Given the description of an element on the screen output the (x, y) to click on. 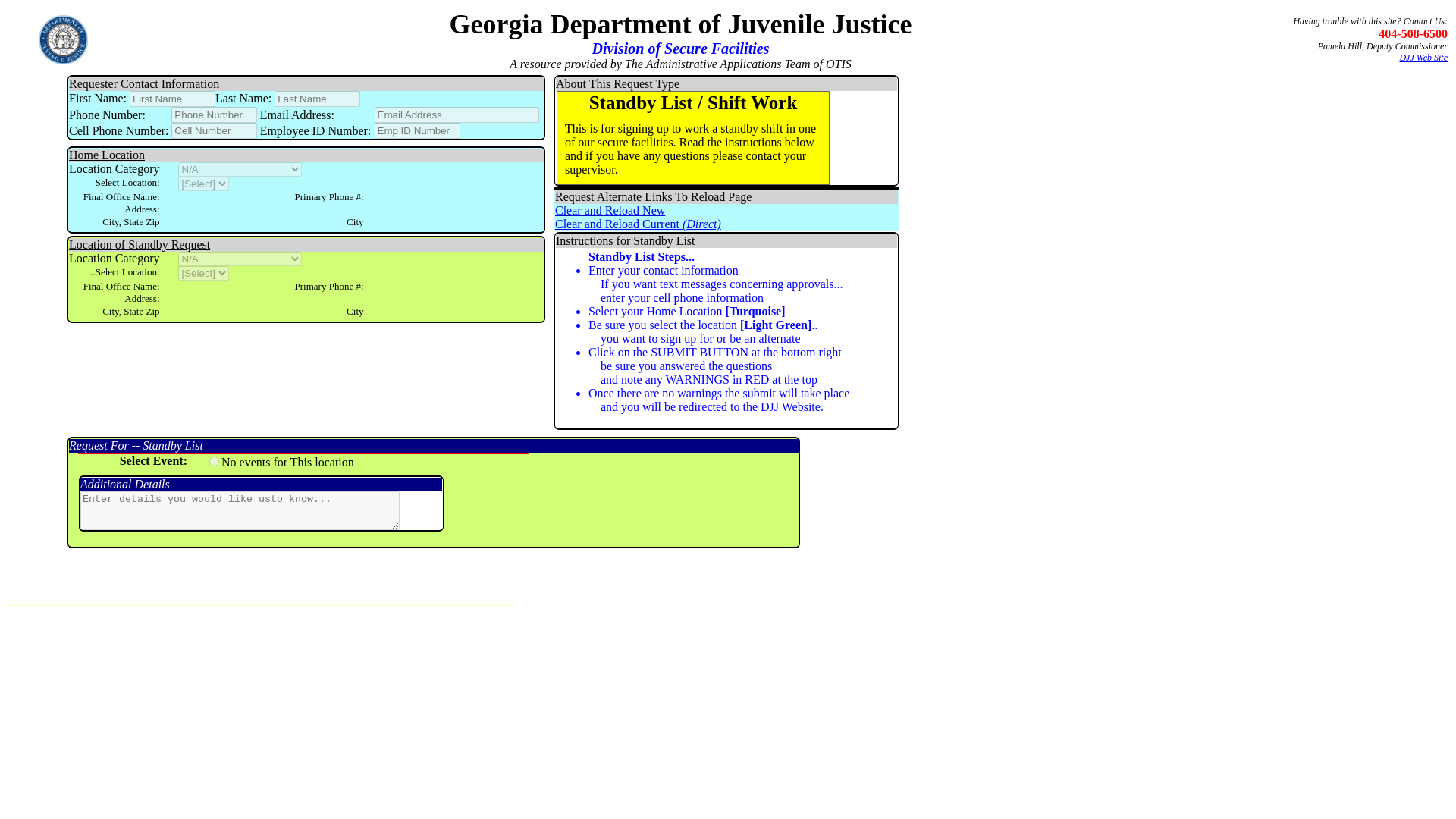
No events for This location (214, 461)
DJJ Web Site (1423, 57)
Clear and Reload New (609, 210)
